Given the description of an element on the screen output the (x, y) to click on. 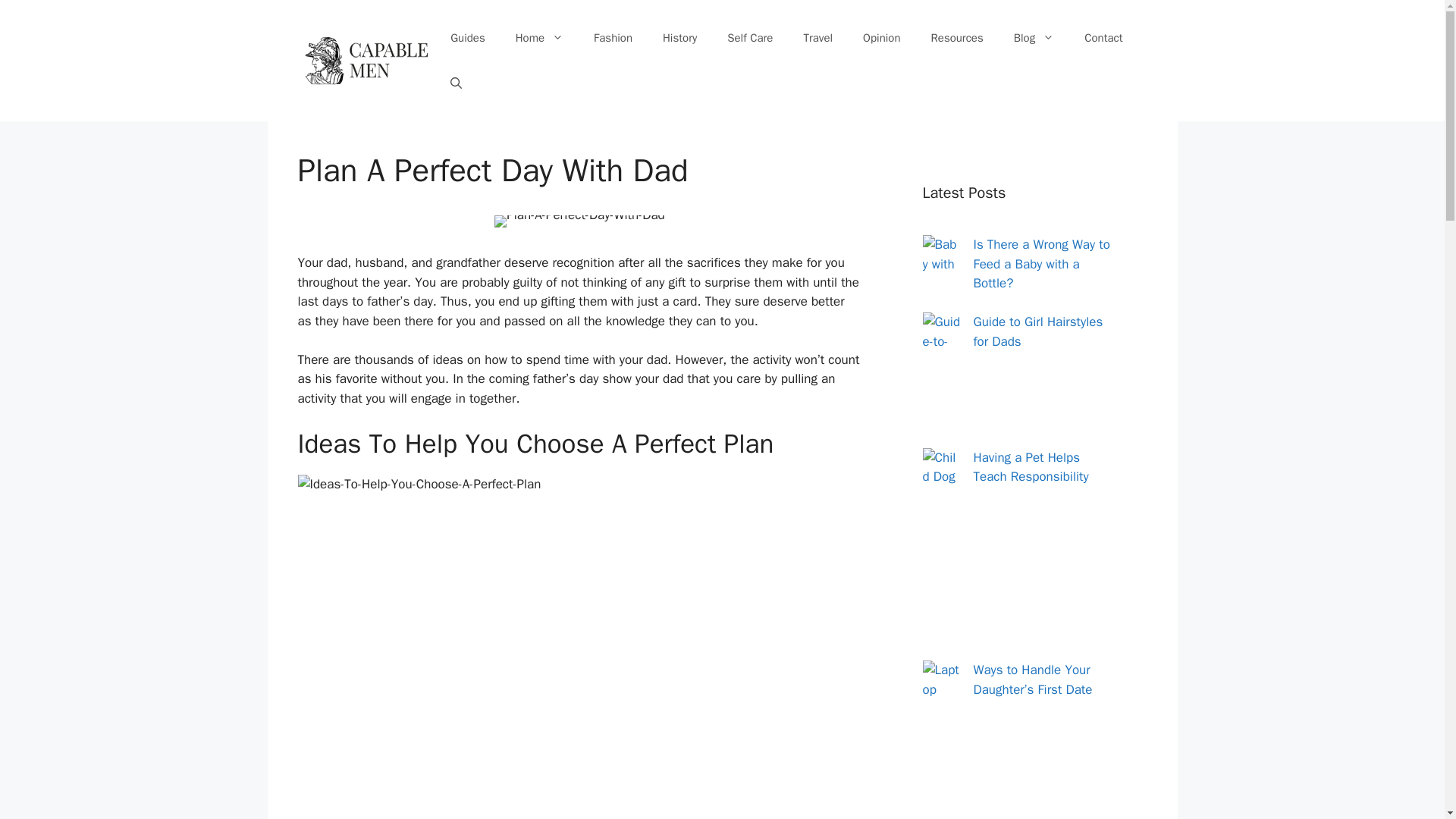
Having a Pet Helps Teach Responsibility (1031, 466)
Resources (956, 37)
Travel (817, 37)
Home (539, 37)
Guide to Girl Hairstyles for Dads (1038, 331)
Blog (1033, 37)
Fashion (612, 37)
Guides (467, 37)
Self Care (749, 37)
Opinion (881, 37)
Contact (1102, 37)
History (679, 37)
Is There a Wrong Way to Feed a Baby with a Bottle? (1041, 263)
